Given the description of an element on the screen output the (x, y) to click on. 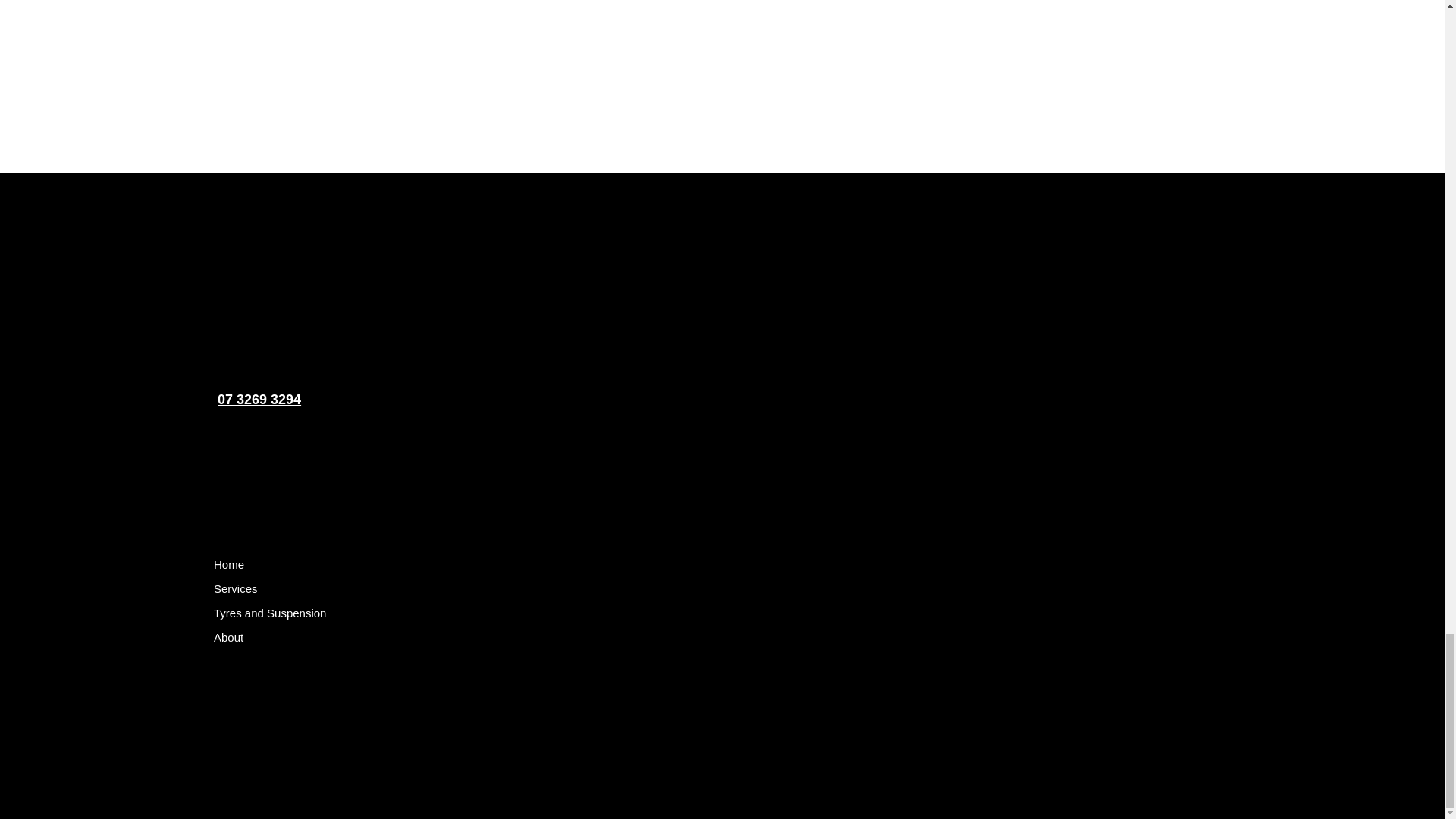
Home (228, 565)
Tyres and Suspension (269, 613)
Services (235, 588)
About (228, 637)
07 3269 3294 (258, 399)
